Given the description of an element on the screen output the (x, y) to click on. 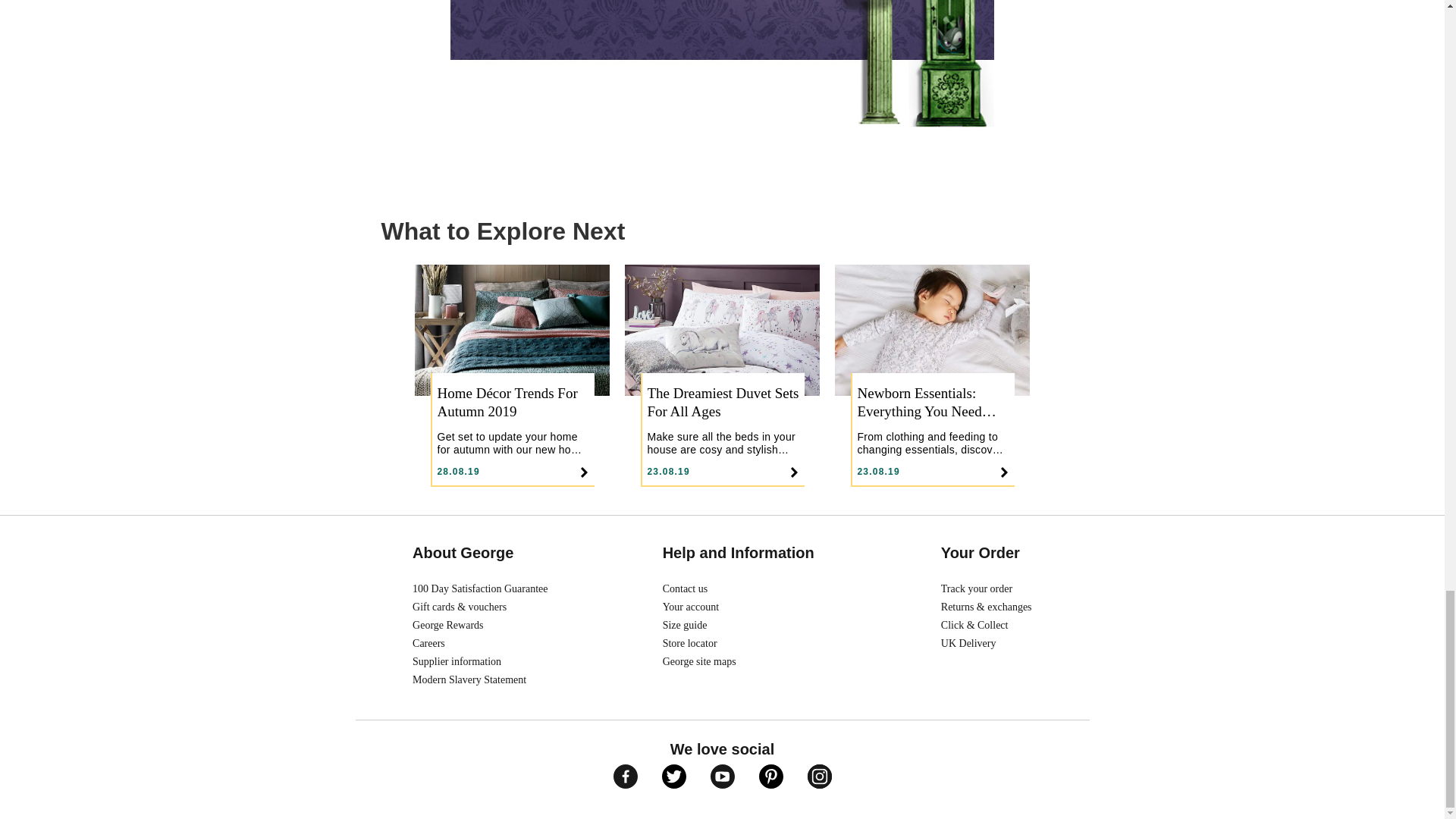
Help and Information (744, 552)
Green grandfather clock  (721, 65)
Careers (479, 643)
Supplier information (479, 661)
George site maps (744, 661)
Your Order (986, 552)
100 Day Satisfaction Guarantee (479, 588)
Contact us (744, 588)
George Rewards (479, 625)
About George (468, 552)
Your account (744, 607)
Modern Slavery Statement (479, 679)
Size guide (744, 625)
Store locator (744, 643)
